Given the description of an element on the screen output the (x, y) to click on. 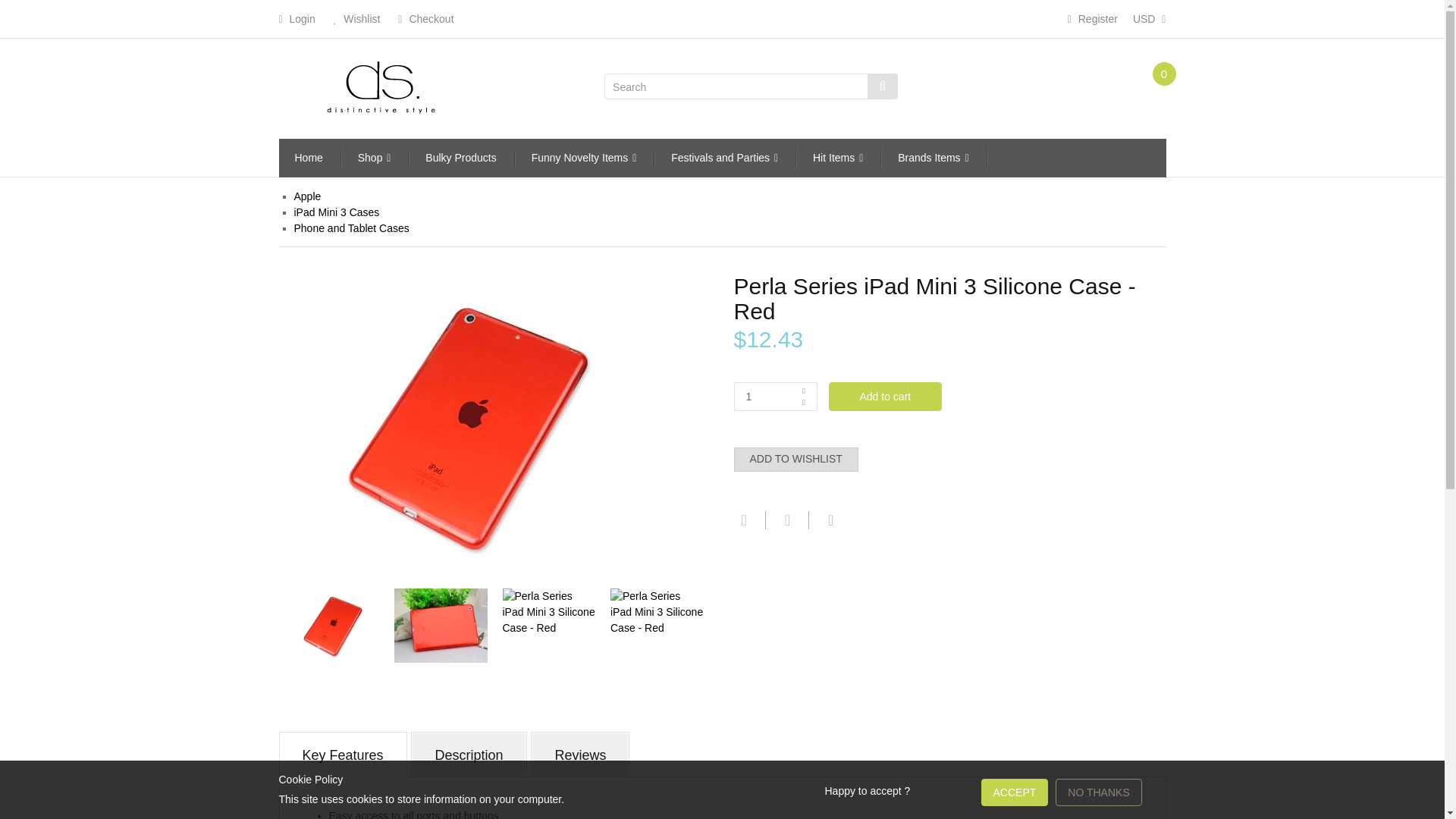
Decrease (803, 401)
1 (774, 396)
Register (1092, 18)
Add to wishlist (796, 459)
Google (829, 520)
cart (1144, 88)
DS. DISTINCTIVE STYLE (380, 85)
Login (297, 18)
Share an image of this article on Pinterest (785, 519)
Wishlist (356, 18)
